Given the description of an element on the screen output the (x, y) to click on. 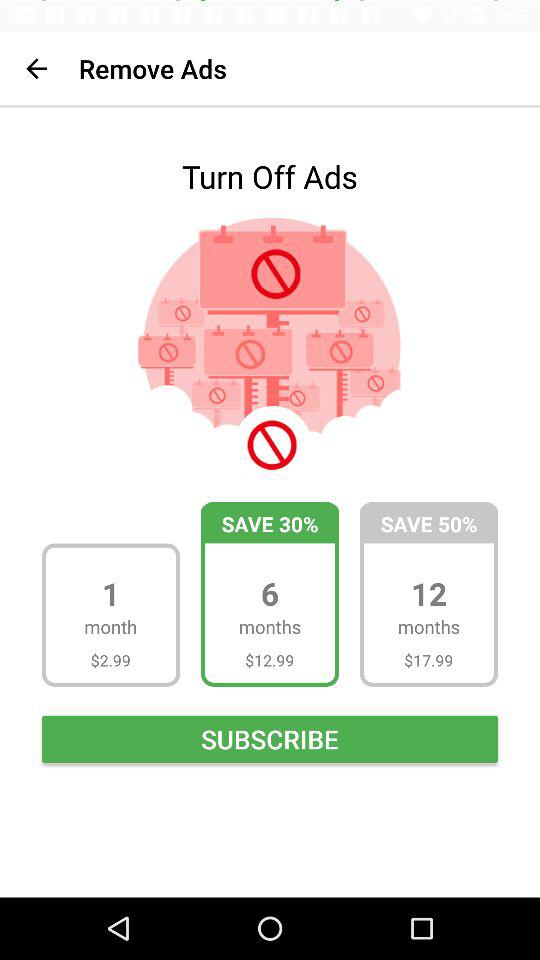
flip to subscribe icon (269, 738)
